Given the description of an element on the screen output the (x, y) to click on. 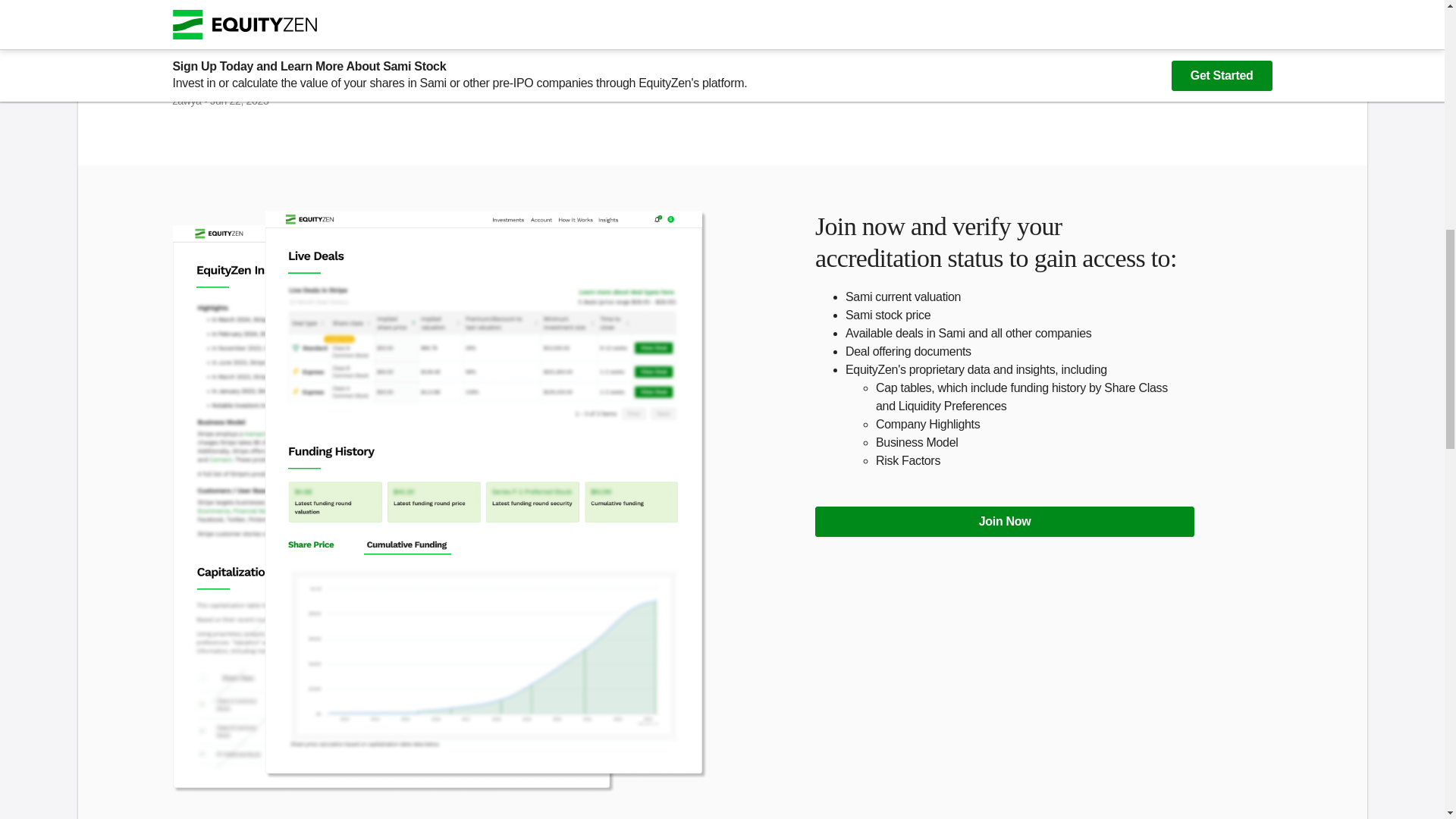
SAMI-AEC forges strategic partnership with Lockheed Martin (440, 84)
Join Now (1004, 521)
